Given the description of an element on the screen output the (x, y) to click on. 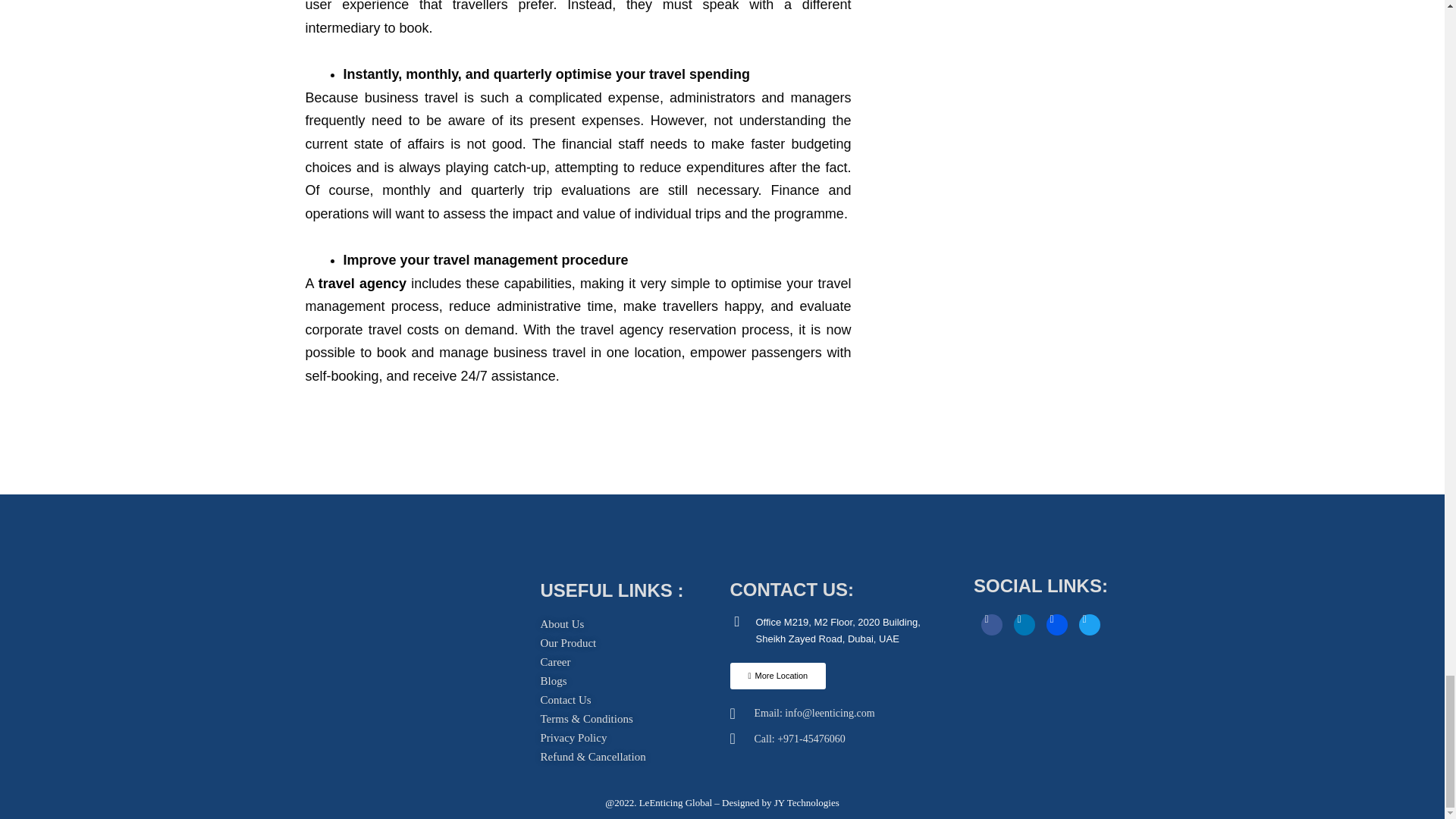
Career (555, 661)
About Us (561, 624)
More Location (777, 675)
Our Product (567, 642)
Privacy Policy (573, 737)
Contact Us (565, 700)
travel agency (362, 283)
Blogs (553, 681)
